Given the description of an element on the screen output the (x, y) to click on. 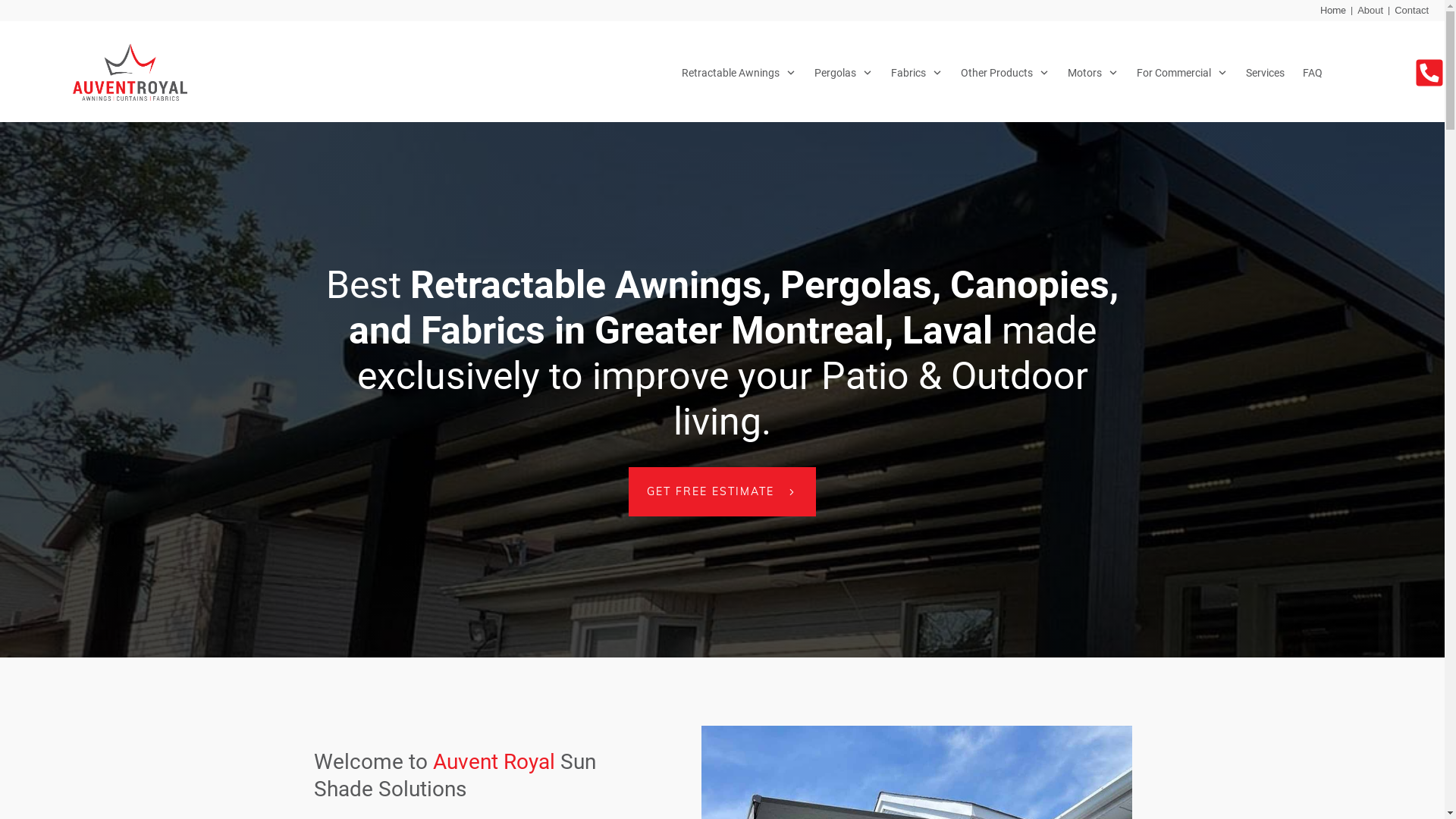
Home Element type: text (1333, 9)
GET FREE ESTIMATE Element type: text (721, 491)
For Commercial Element type: text (1181, 72)
Retractable Awnings Element type: text (738, 72)
Motors Element type: text (1092, 72)
Pergolas Element type: text (843, 72)
About Element type: text (1370, 9)
Contact Element type: text (1411, 9)
Fabrics Element type: text (916, 72)
FAQ Element type: text (1312, 72)
Services Element type: text (1264, 72)
Other Products Element type: text (1004, 72)
